Given the description of an element on the screen output the (x, y) to click on. 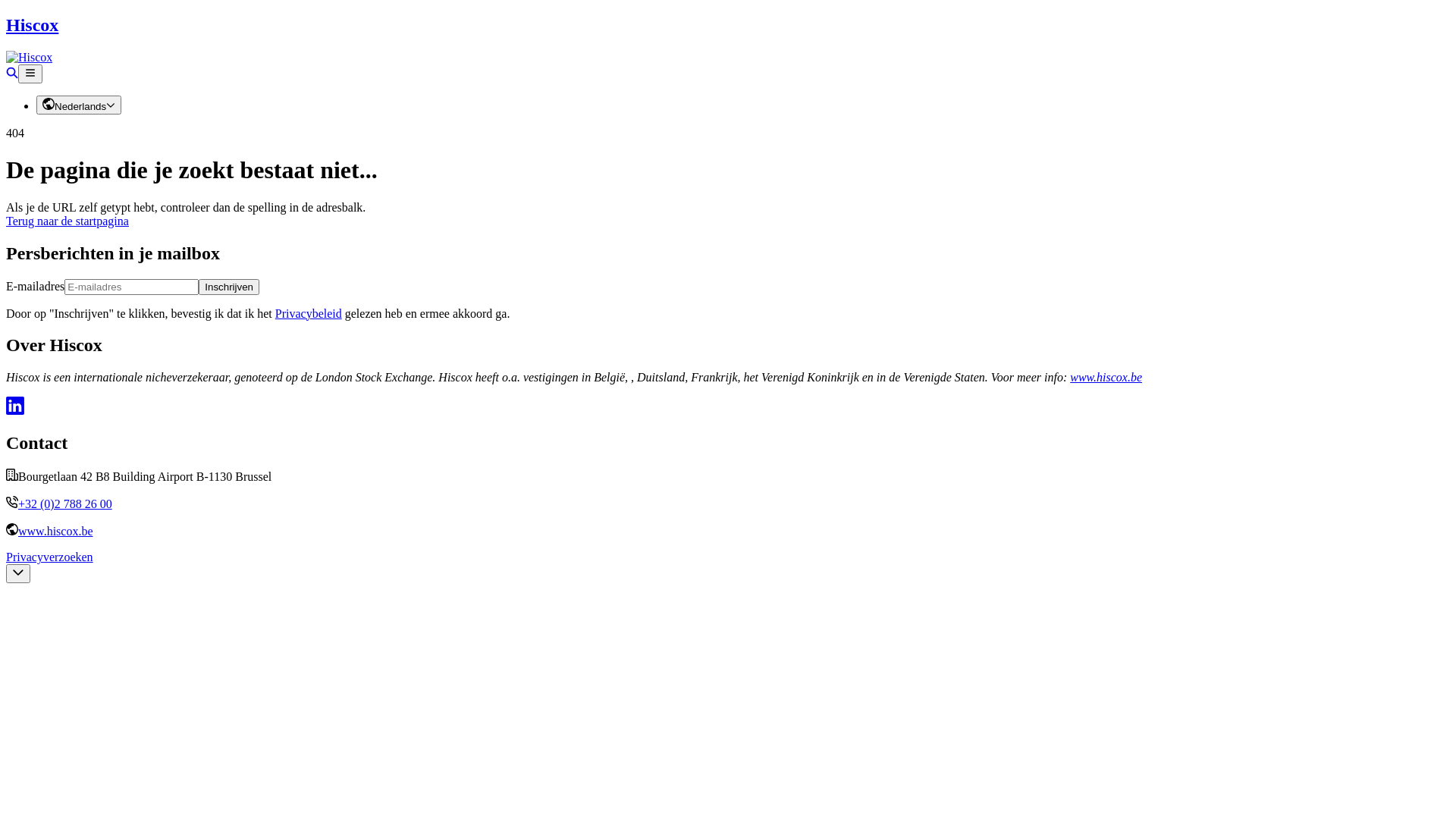
Privacyverzoeken Element type: text (49, 556)
www.hiscox.be Element type: text (55, 530)
www.hiscox.be Element type: text (1106, 376)
Terug naar de startpagina Element type: text (67, 220)
Hiscox Element type: text (727, 39)
LinkedIn Element type: hover (15, 410)
Zoeken Element type: hover (12, 74)
Inschrijven Element type: text (228, 286)
Nederlands Element type: text (78, 104)
+32 (0)2 788 26 00 Element type: text (65, 503)
Toggle-navigatie Element type: hover (30, 73)
Privacybeleid Element type: text (308, 312)
